Given the description of an element on the screen output the (x, y) to click on. 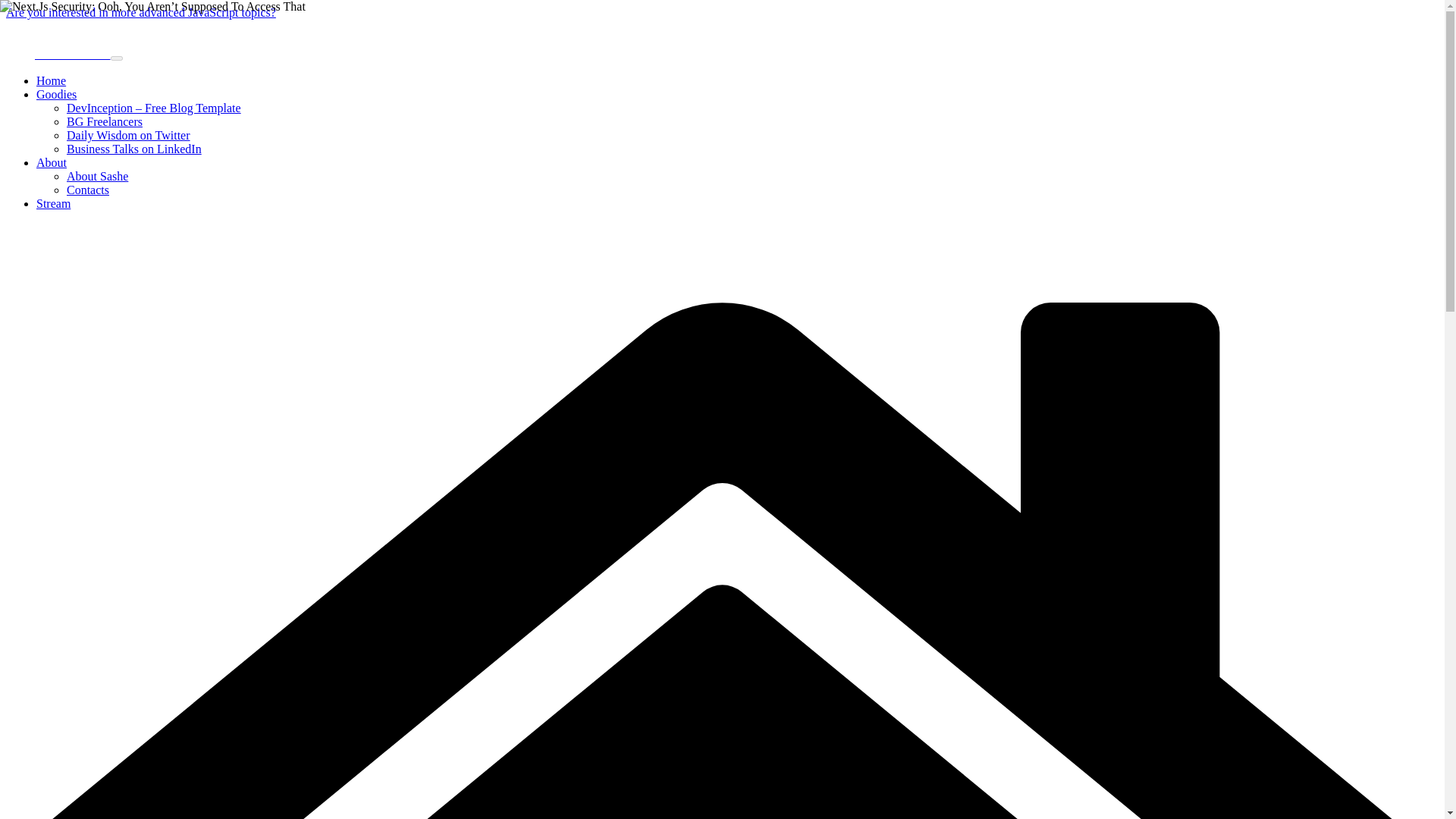
Stream (52, 203)
Are you interested in more advanced JavaScript topics? (140, 11)
Business Talks on LinkedIn (134, 148)
About (51, 162)
Home (50, 80)
Daily Wisdom on Twitter (128, 134)
Goodies (56, 93)
Daily Wisdom on Twitter (128, 134)
Contacts (87, 189)
About Sashe (97, 175)
Contacts (87, 189)
BuhalBu.com (57, 53)
Goodies (56, 93)
BG Freelancers (104, 121)
About (51, 162)
